Given the description of an element on the screen output the (x, y) to click on. 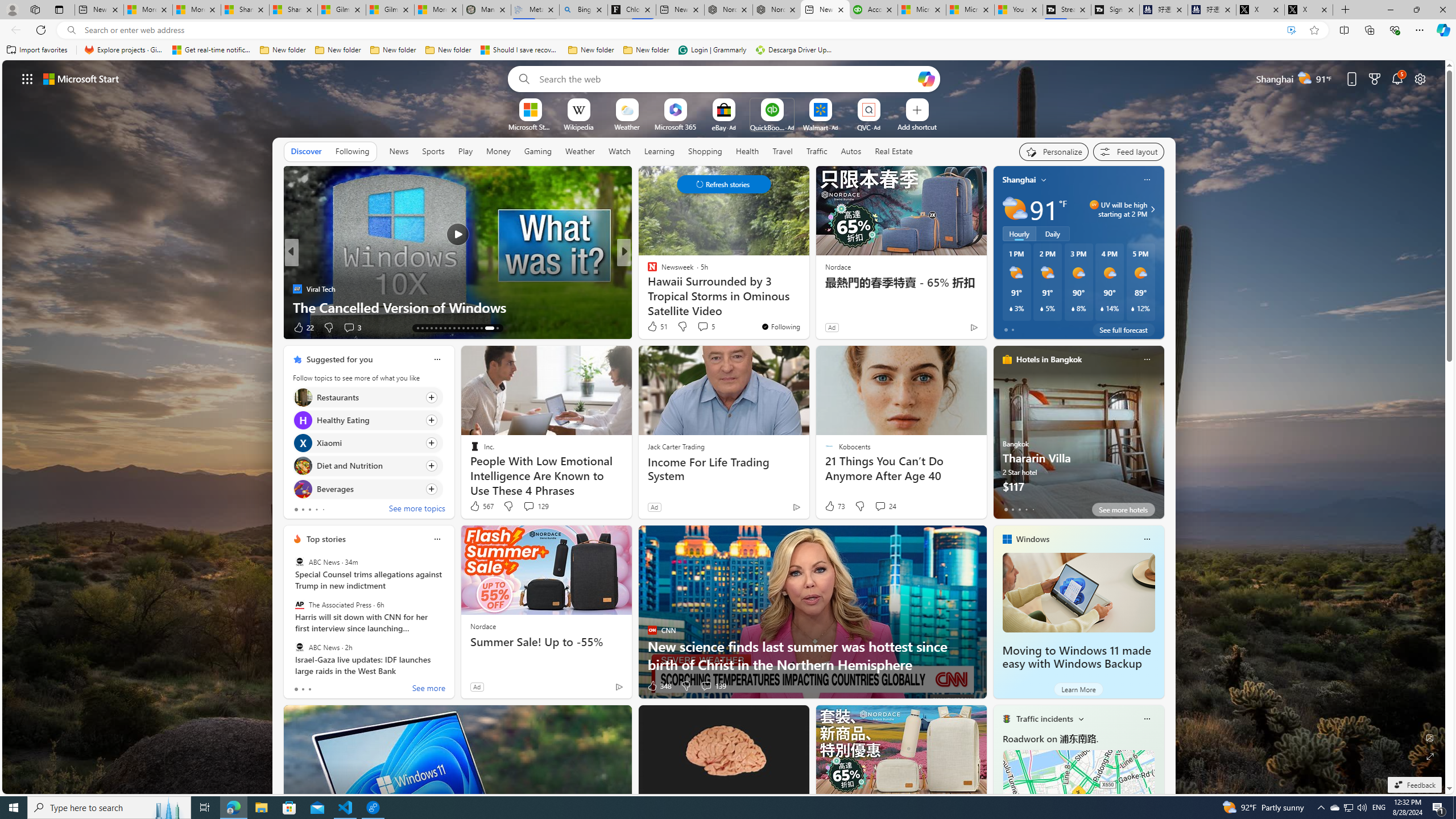
Feed settings (1128, 151)
51 Like (657, 326)
View comments 3 Comment (349, 327)
Viral Tech (296, 288)
My location (1043, 179)
Thararin Villa (1078, 436)
Hourly (1018, 233)
Shanghai (1018, 179)
AutomationID: tab-28 (467, 328)
AutomationID: tab-33 (497, 328)
AutomationID: tab-32 (489, 328)
